Given the description of an element on the screen output the (x, y) to click on. 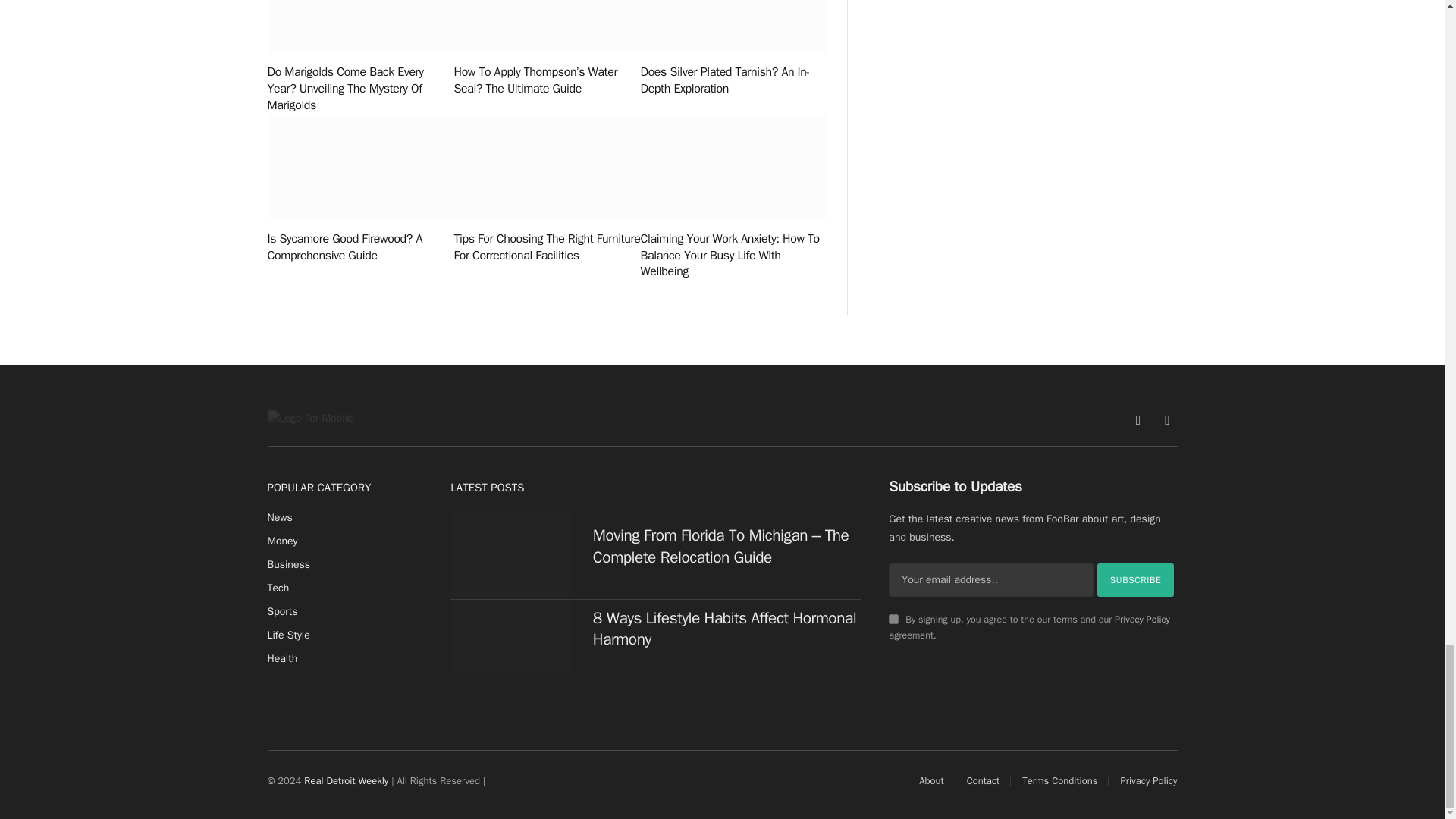
Subscribe (1135, 580)
on (893, 619)
